Given the description of an element on the screen output the (x, y) to click on. 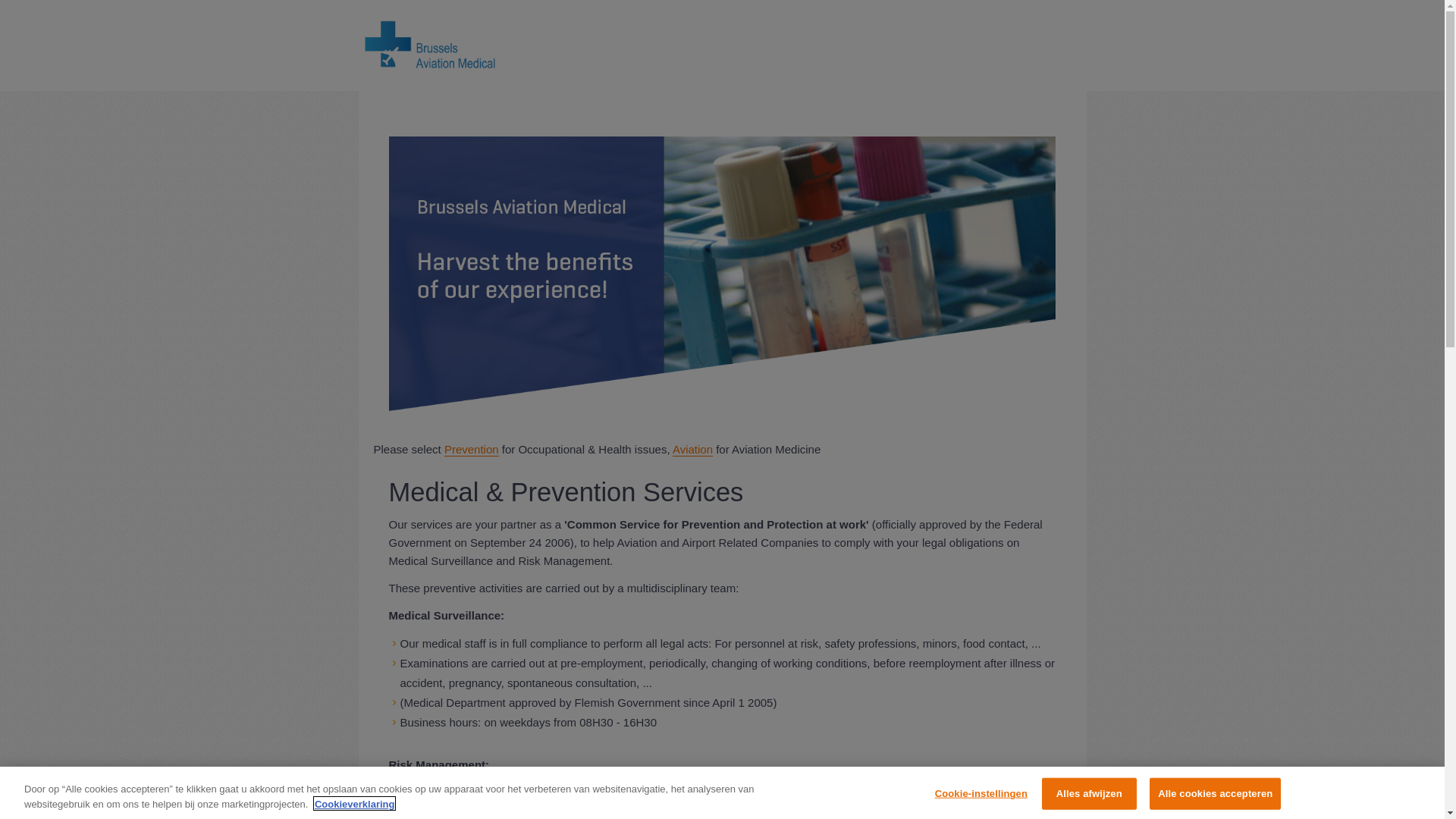
Alles afwijzen Element type: text (1088, 793)
Cookie-instellingen Element type: text (980, 793)
Alle cookies accepteren Element type: text (1214, 793)
Prevention Element type: text (471, 449)
Aviation Element type: text (692, 449)
Brussels Aviation Medical Element type: hover (430, 45)
Cookieverklaring Element type: text (354, 803)
Overslaan en naar de inhoud gaan Element type: text (87, 0)
